Given the description of an element on the screen output the (x, y) to click on. 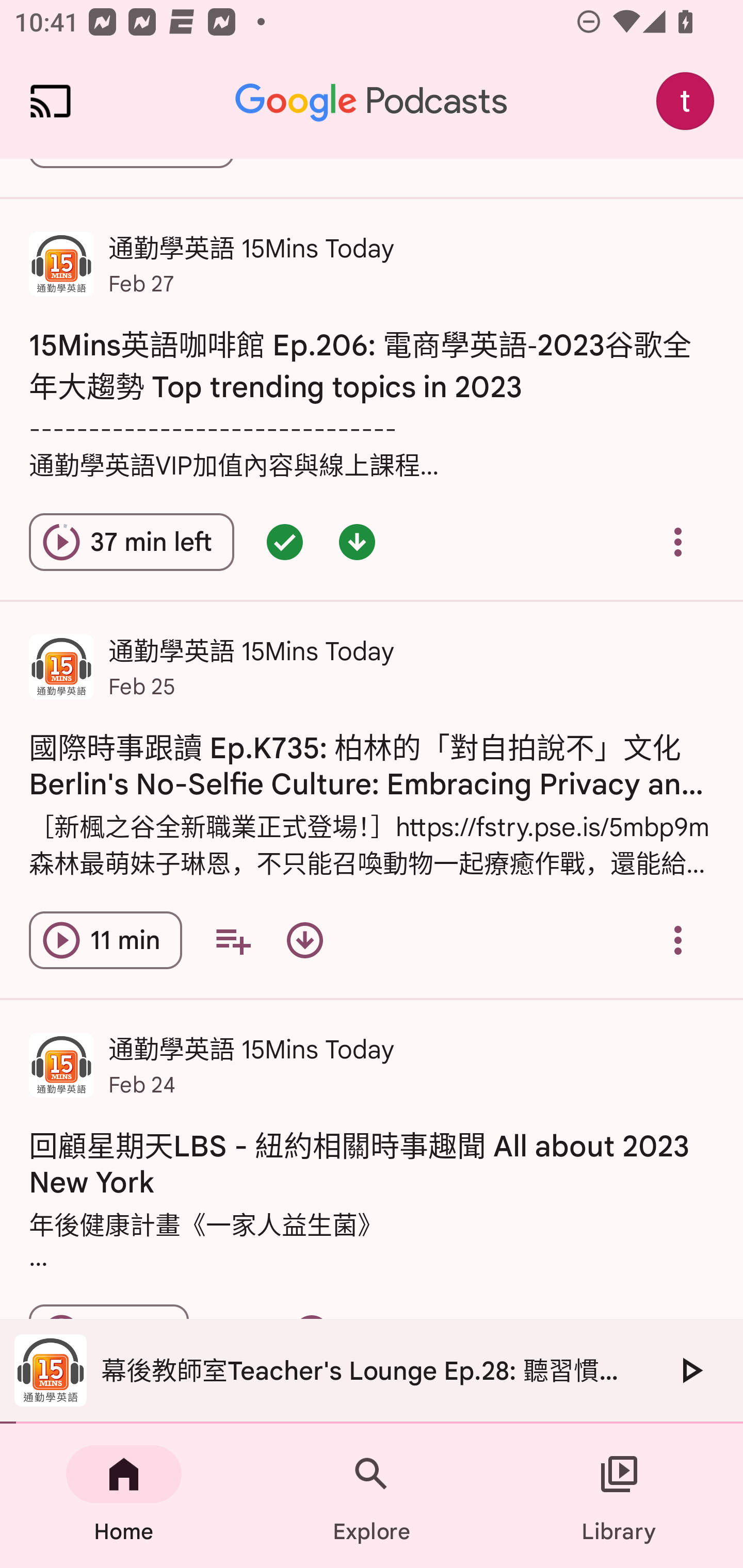
Cast. Disconnected (50, 101)
Episode queued - double tap for options (284, 541)
Episode downloaded - double tap for options (356, 541)
Overflow menu (677, 541)
Add to your queue (232, 939)
Download episode (304, 939)
Overflow menu (677, 939)
Play (690, 1370)
Explore (371, 1495)
Library (619, 1495)
